Given the description of an element on the screen output the (x, y) to click on. 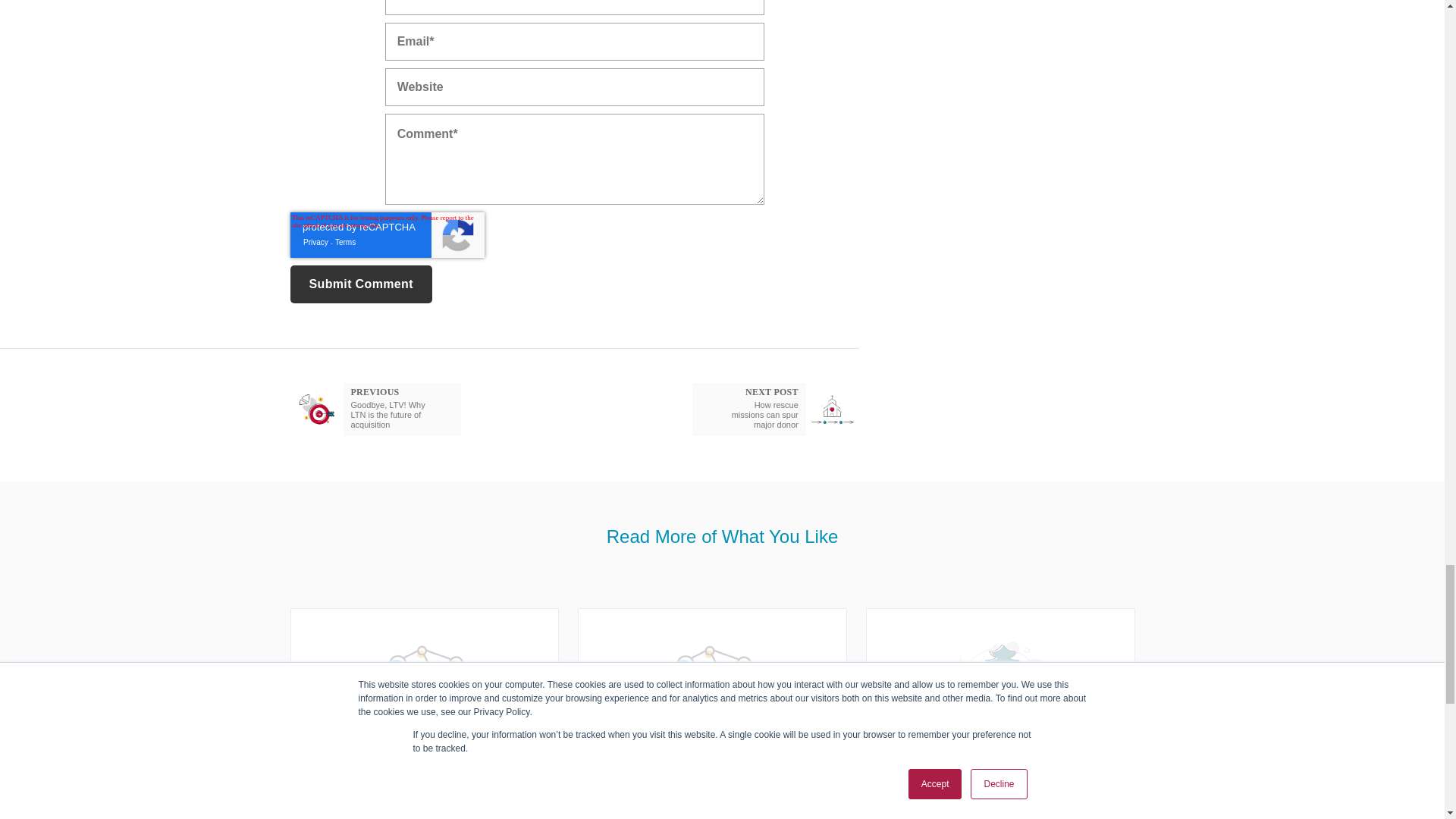
reCAPTCHA (386, 234)
Submit Comment (359, 284)
